Given the description of an element on the screen output the (x, y) to click on. 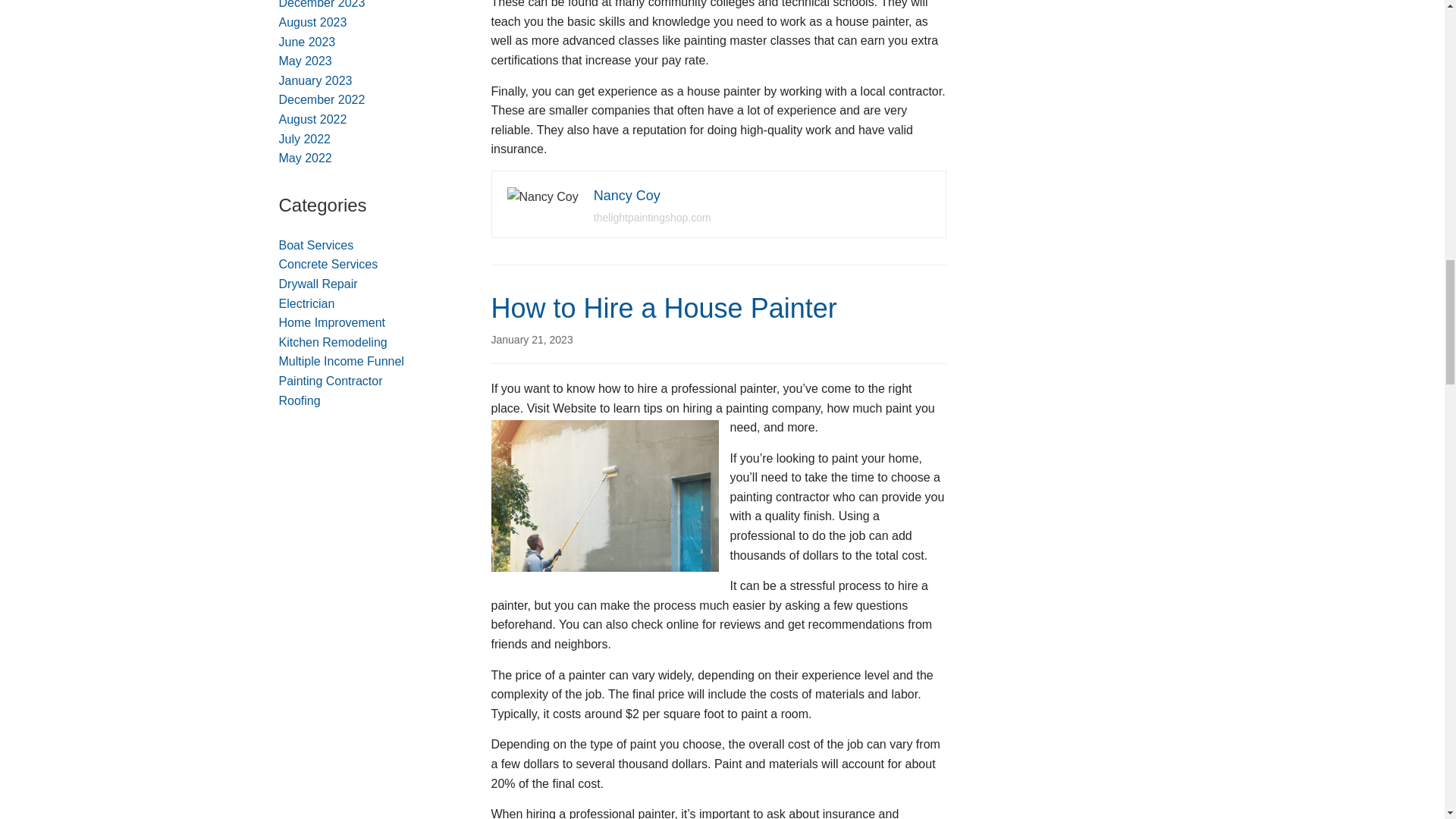
Permanent Link to How to Hire a House Painter (532, 339)
